Given the description of an element on the screen output the (x, y) to click on. 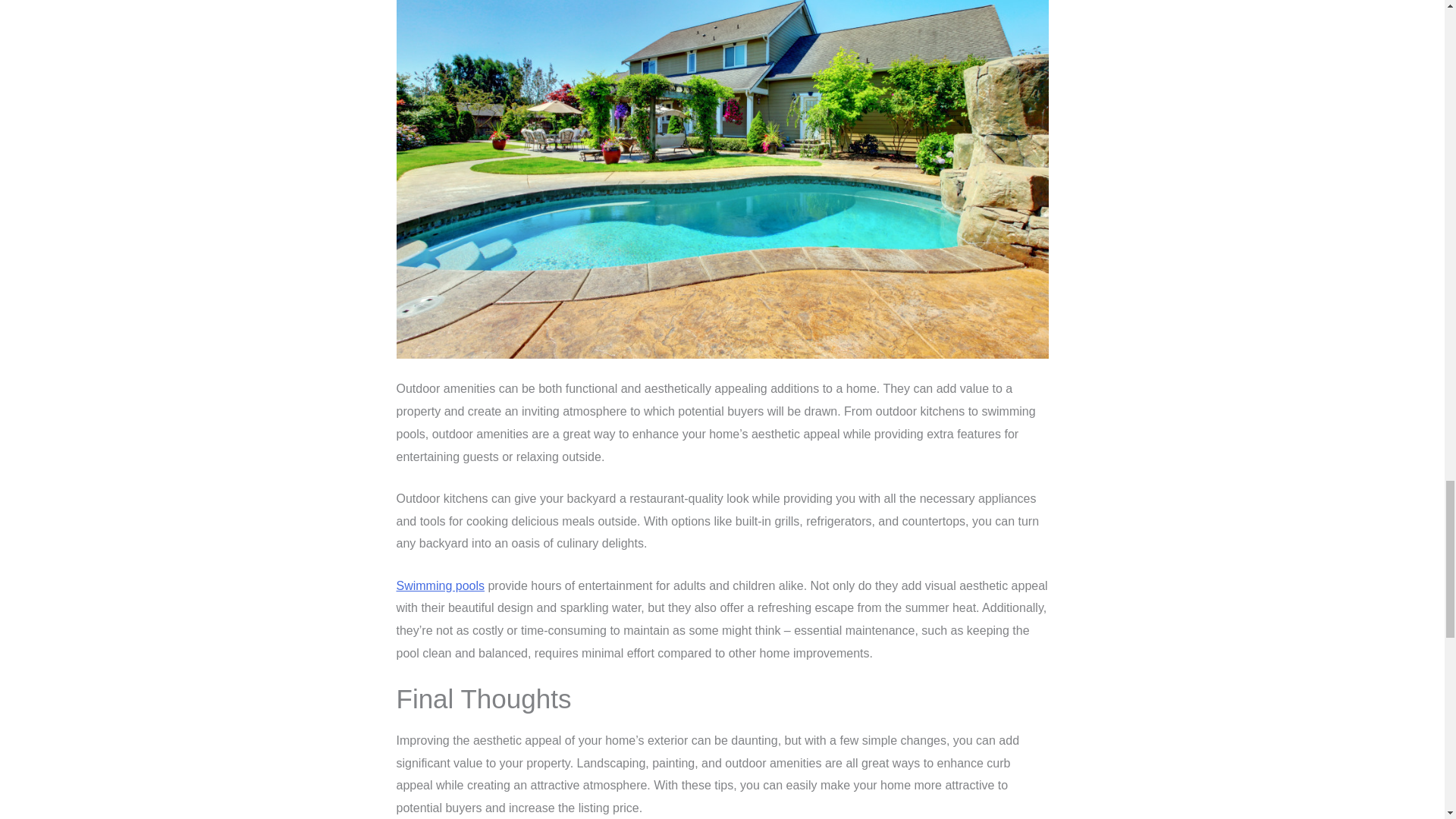
Swimming pools (439, 585)
